Given the description of an element on the screen output the (x, y) to click on. 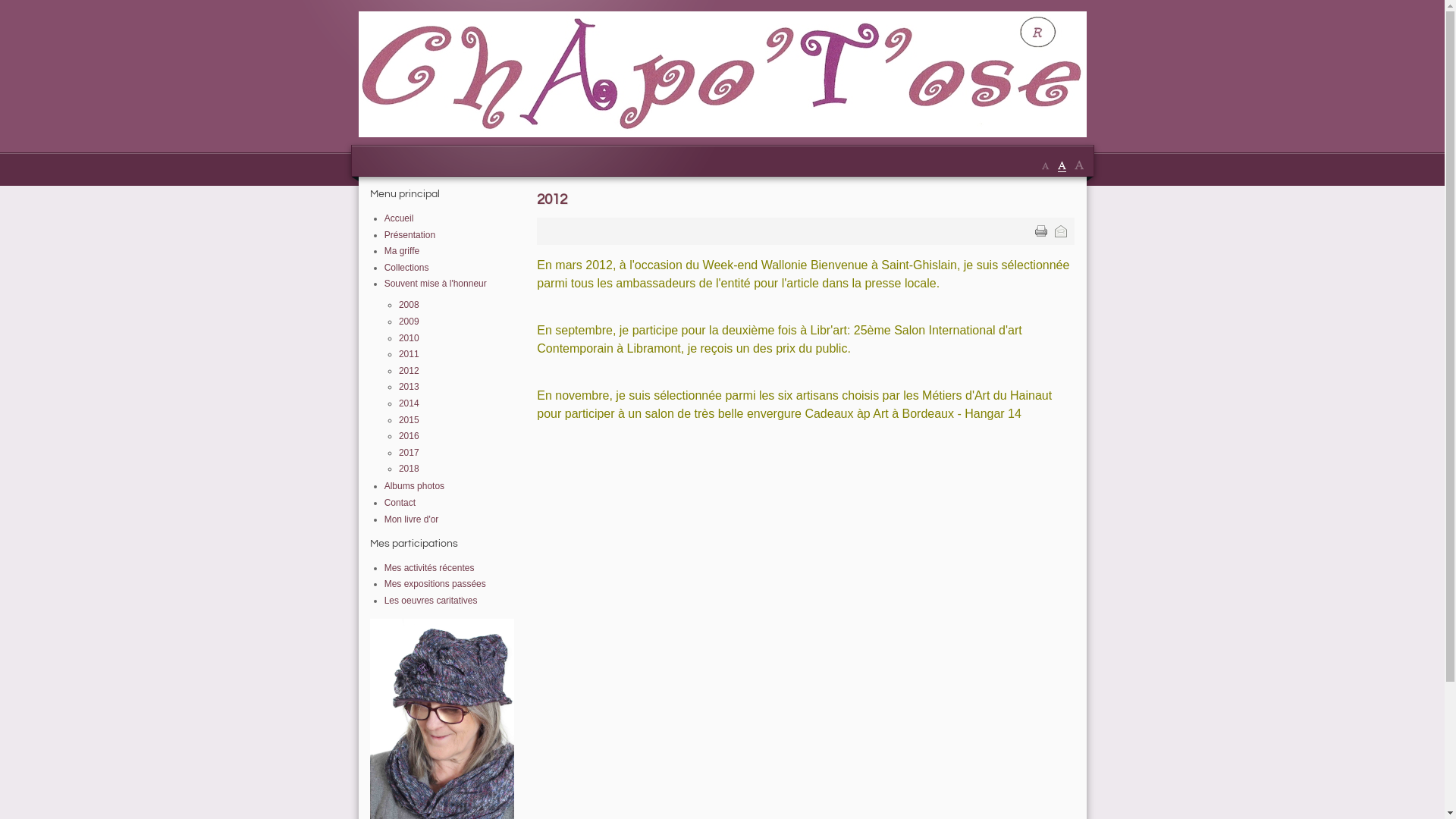
Les oeuvres caritatives Element type: text (430, 600)
Mon livre d'or Element type: text (411, 519)
2015 Element type: text (408, 419)
2018 Element type: text (408, 468)
Imprimer Element type: hover (1041, 231)
Contact Element type: text (399, 502)
2012 Element type: text (551, 199)
E-mail Element type: hover (1060, 231)
2017 Element type: text (408, 452)
Ma griffe Element type: text (401, 250)
2011 Element type: text (408, 353)
2010 Element type: text (408, 337)
2013 Element type: text (408, 386)
Collections Element type: text (406, 267)
Albums photos Element type: text (414, 485)
2012 Element type: text (408, 370)
Accueil Element type: text (399, 218)
2016 Element type: text (408, 435)
  Element type: text (1060, 231)
2008 Element type: text (408, 304)
2014 Element type: text (408, 403)
2009 Element type: text (408, 321)
  Element type: text (1041, 231)
